Given the description of an element on the screen output the (x, y) to click on. 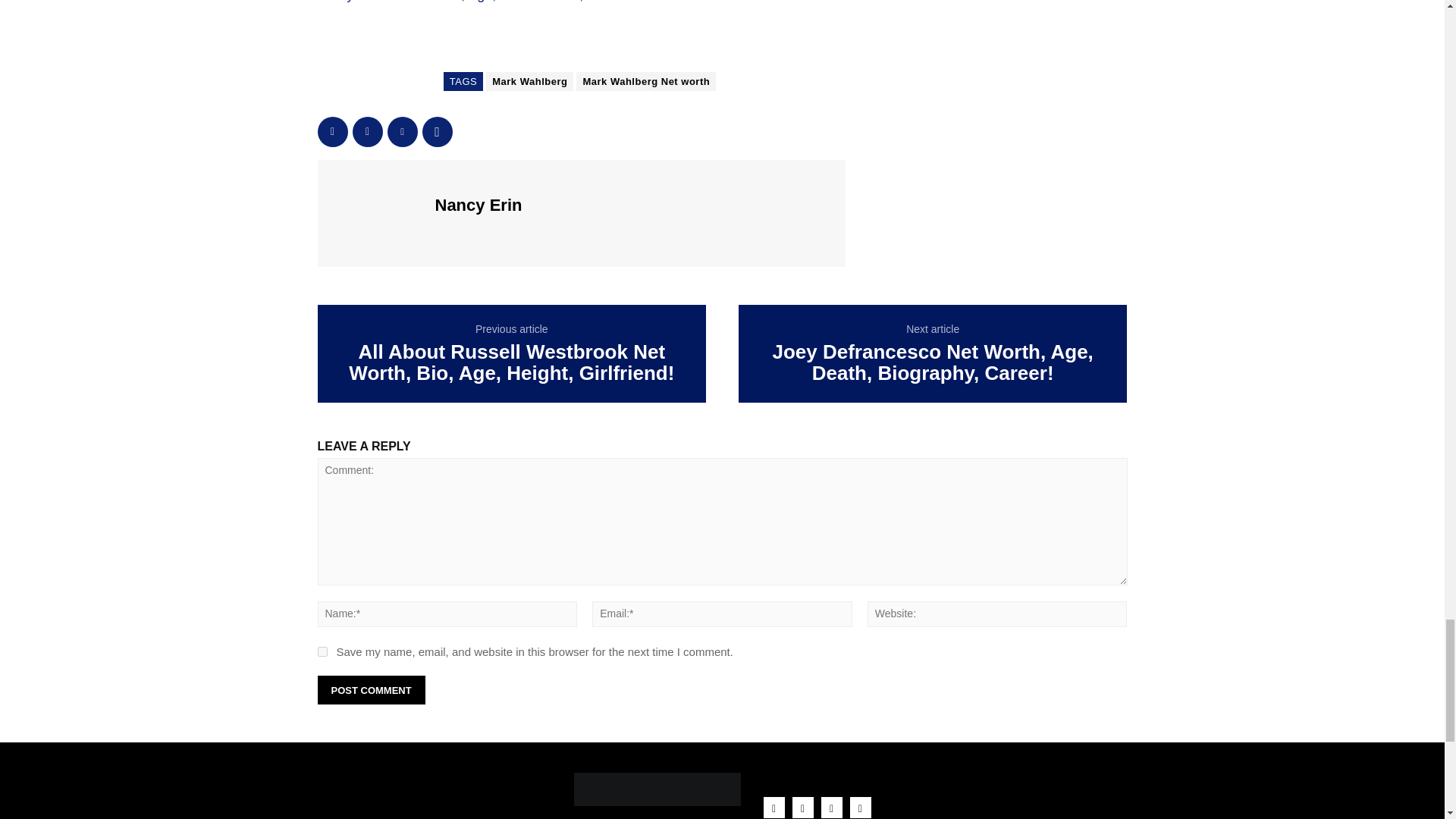
Pinterest (401, 132)
WhatsApp (436, 132)
yes (321, 651)
Facebook (332, 132)
Twitter (366, 132)
Mark Wahlberg Net worth (646, 81)
Post Comment (371, 690)
Mark Wahlberg (529, 81)
